Given the description of an element on the screen output the (x, y) to click on. 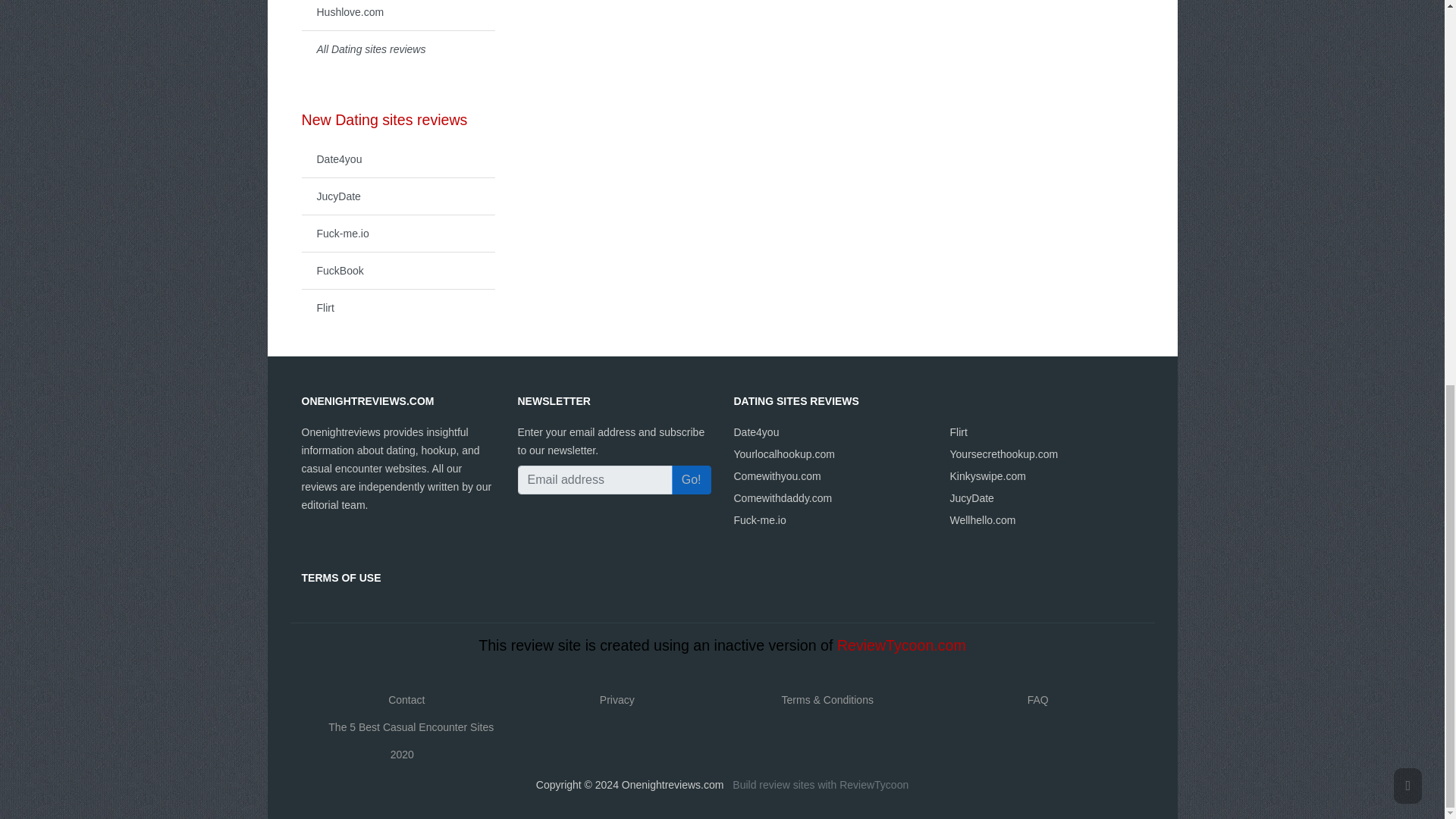
Fuck-me.io (398, 232)
Flirt (398, 307)
All Dating sites reviews (398, 48)
Date4you (755, 431)
Date4you (398, 158)
Complete List (398, 48)
JucyDate (398, 195)
Hushlove.com (398, 15)
FuckBook (398, 270)
Fuck-me.io (759, 520)
Go! (691, 480)
Hushlove.com (398, 15)
JucyDate (398, 195)
Comewithyou.com (777, 476)
Fuck-me.io (398, 232)
